Given the description of an element on the screen output the (x, y) to click on. 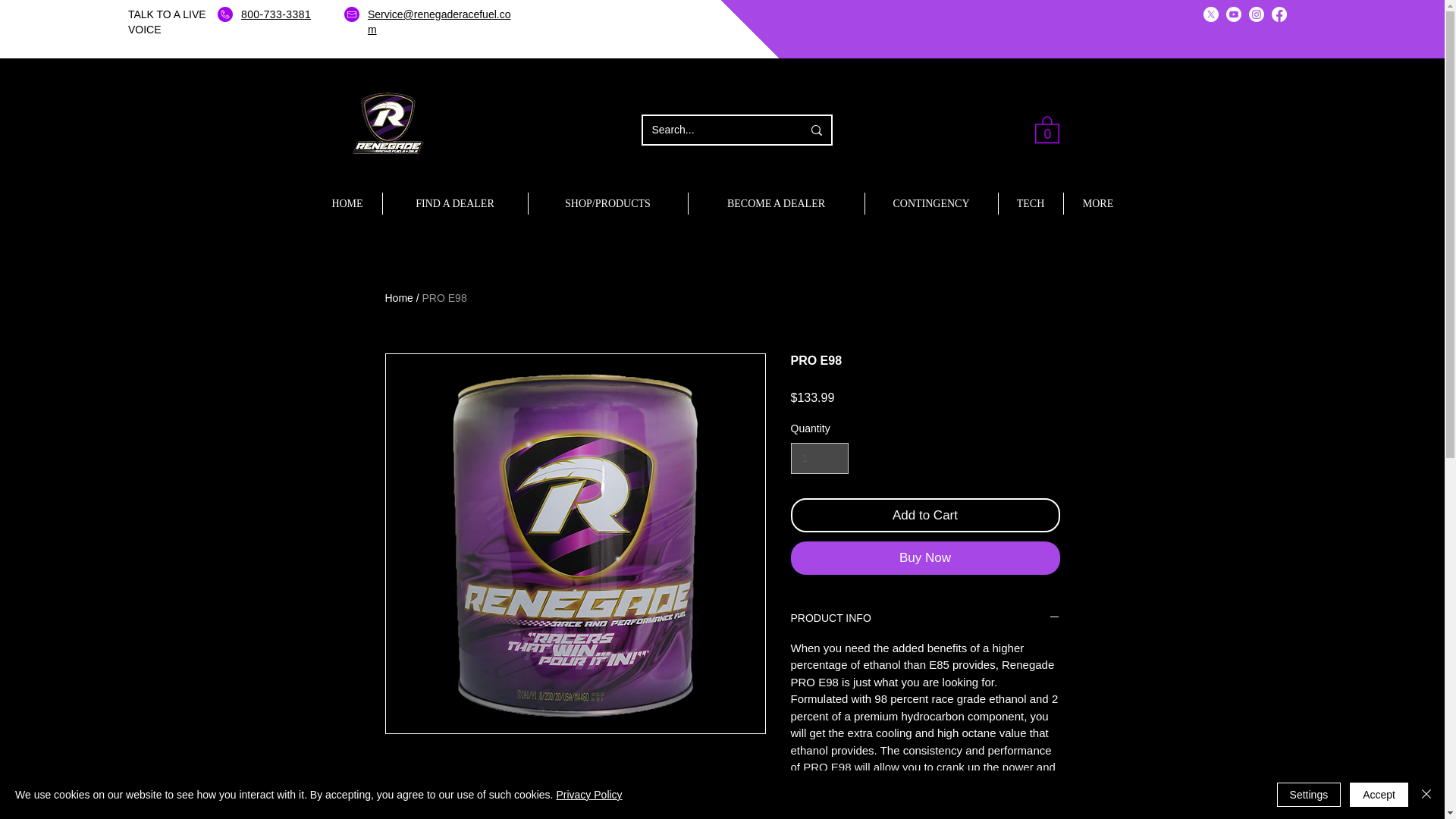
CONTINGENCY (930, 203)
Add to Cart (924, 515)
PRODUCT INFO (924, 618)
HOME (347, 203)
1 (818, 458)
BECOME A DEALER (776, 203)
800-733-3381 (276, 14)
TECH (1029, 203)
FIND A DEALER (454, 203)
PRO E98 (444, 297)
